Given the description of an element on the screen output the (x, y) to click on. 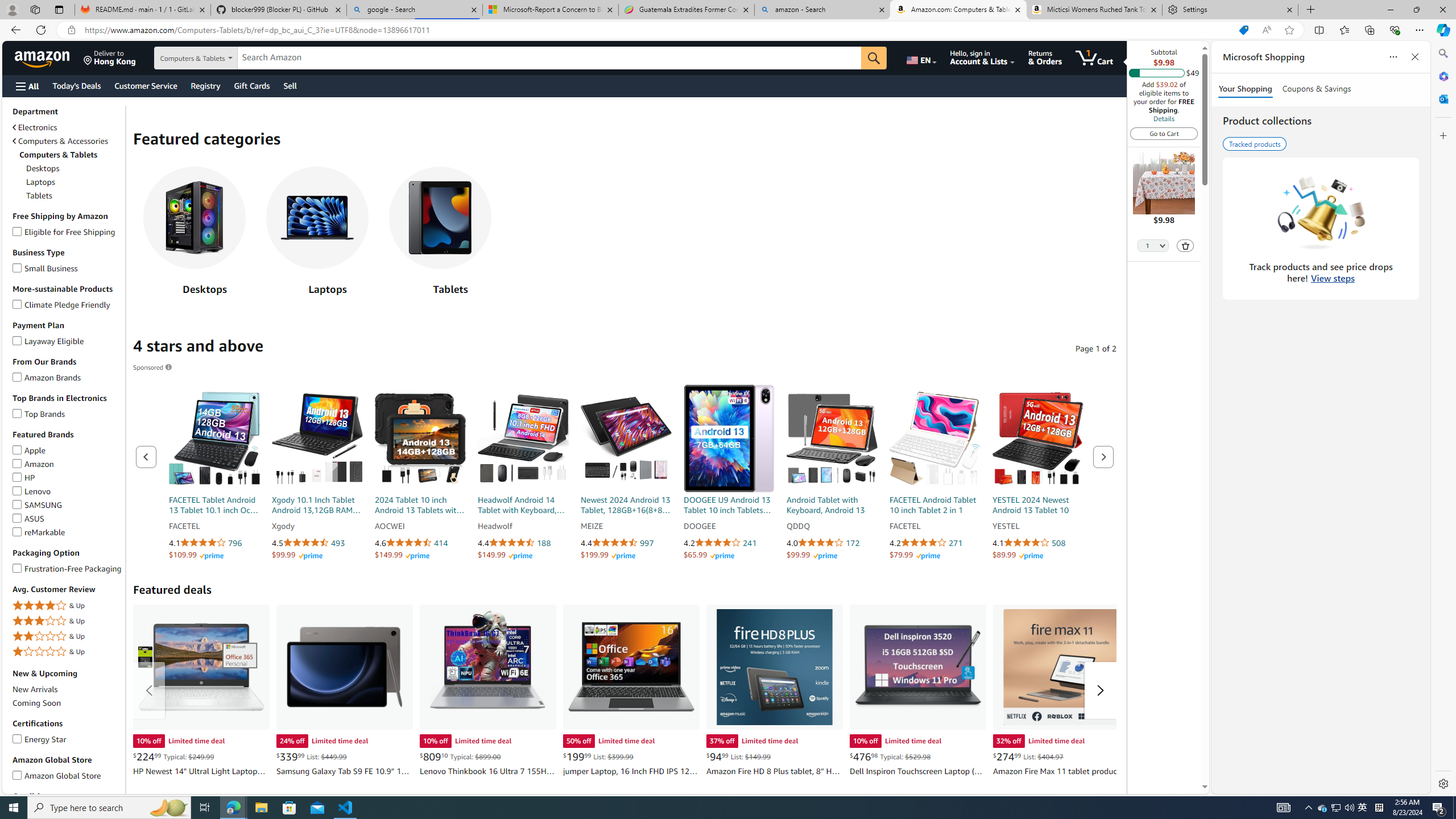
$149.99 Amazon Prime (504, 554)
Climate Pledge Friendly Climate Pledge Friendly (61, 304)
4.6 out of 5 stars 414 ratings (419, 543)
3 Stars & Up (67, 621)
4.1 out of 5 stars 796 ratings (214, 543)
Coming Soon (67, 702)
reMarkable (17, 529)
